Given the description of an element on the screen output the (x, y) to click on. 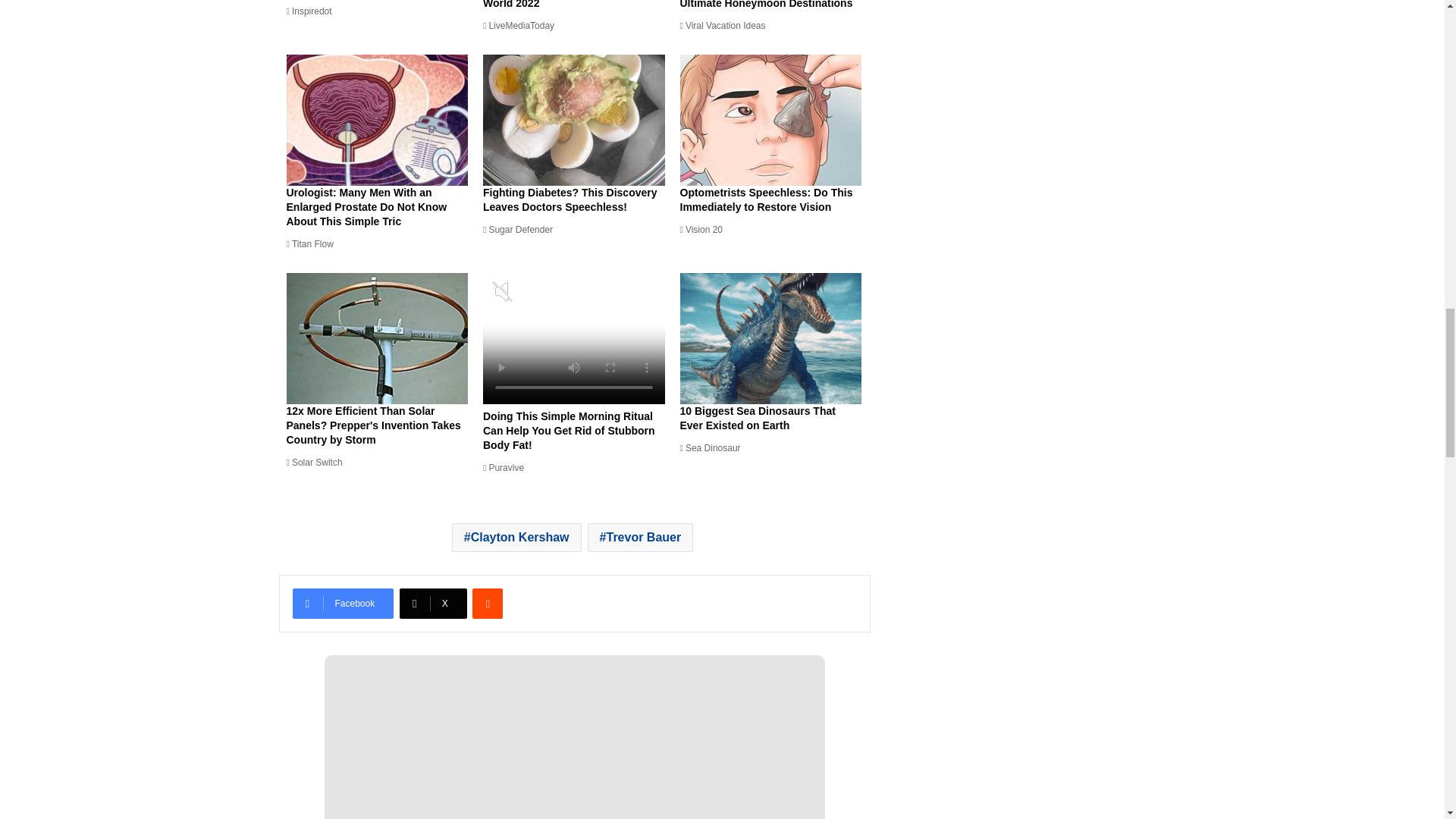
Reddit (486, 603)
X (432, 603)
Facebook (343, 603)
